Given the description of an element on the screen output the (x, y) to click on. 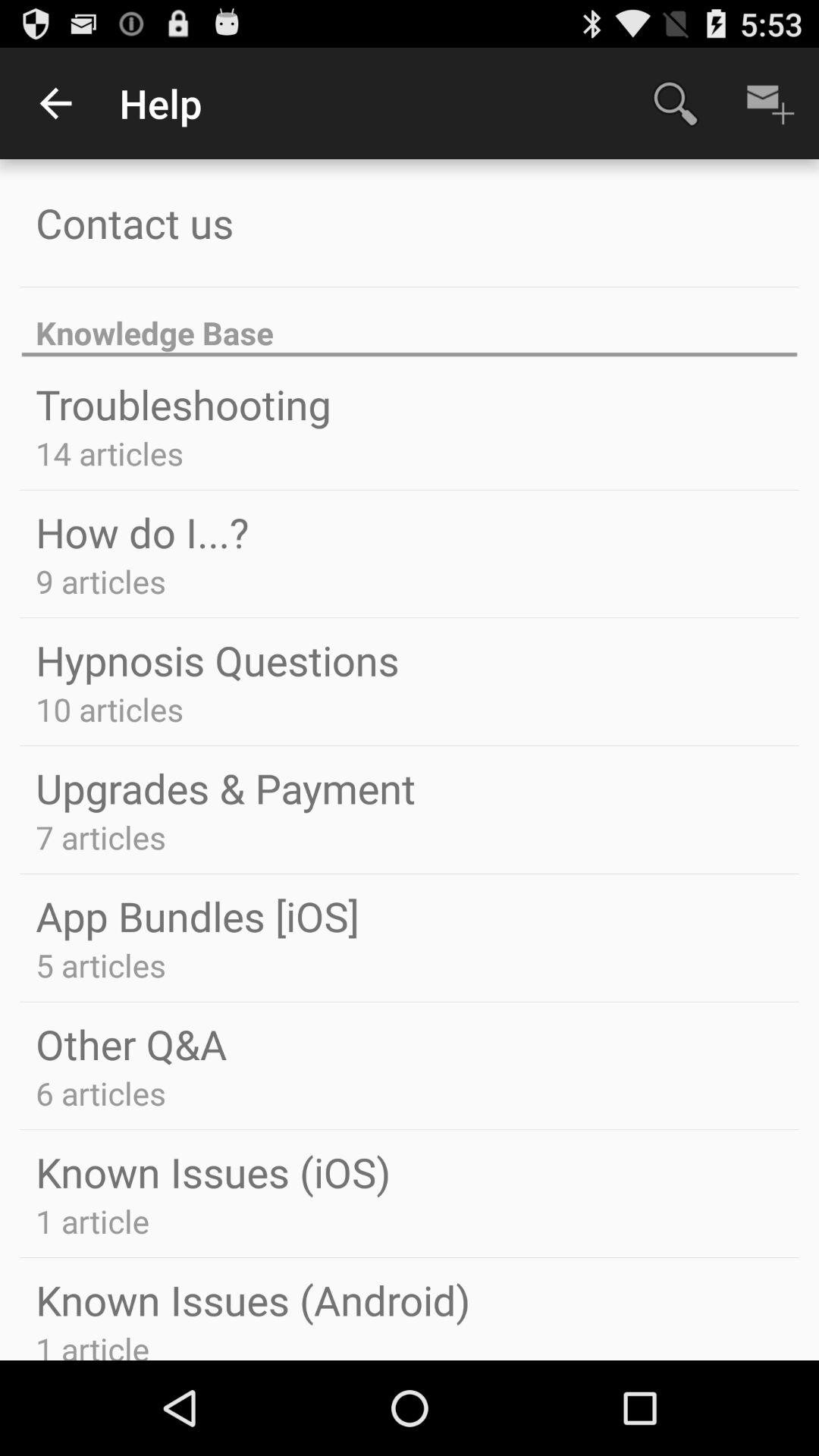
turn on the icon above 7 articles item (225, 787)
